Given the description of an element on the screen output the (x, y) to click on. 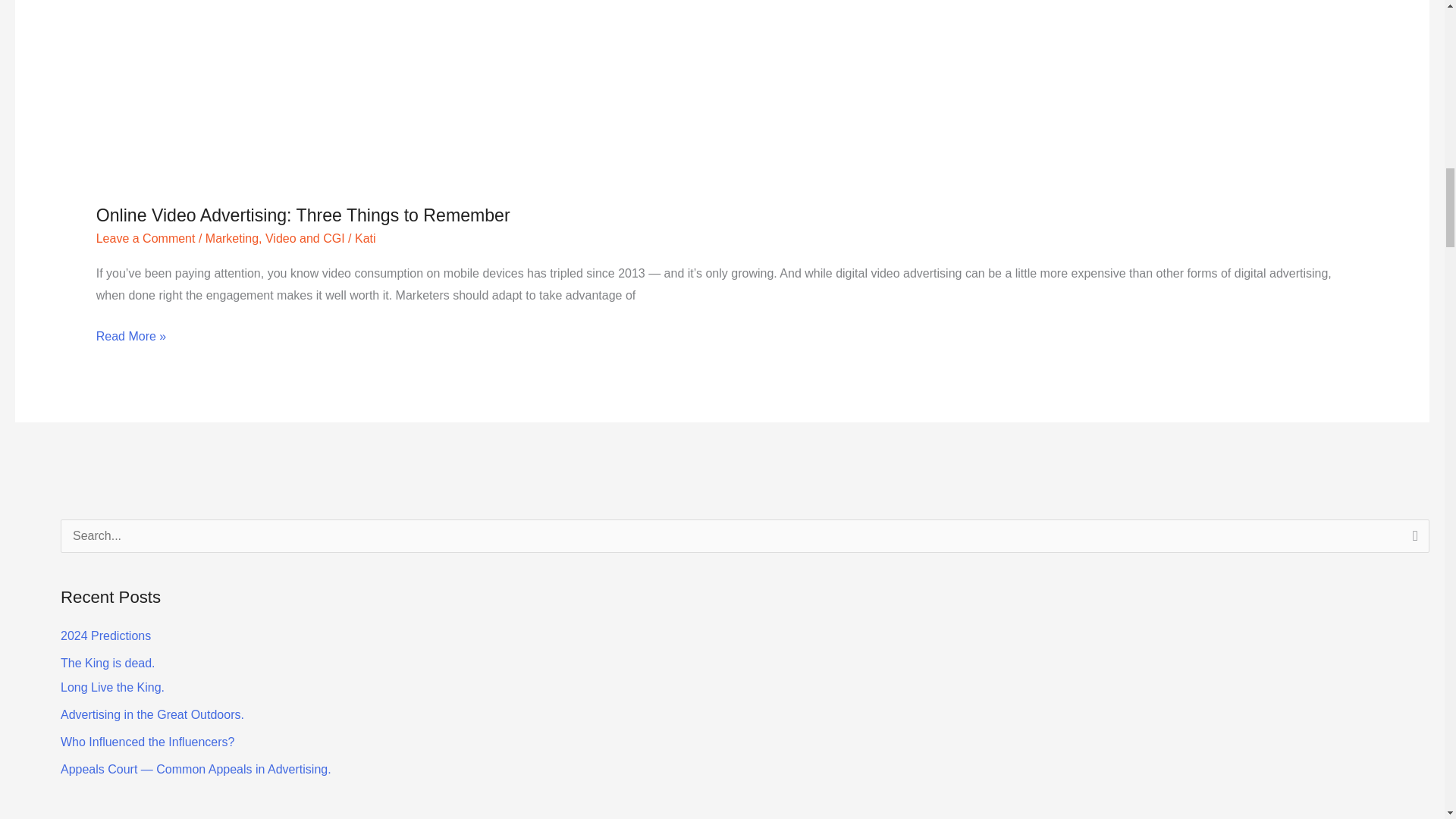
Video and CGI (304, 237)
Advertising in the Great Outdoors. (112, 674)
Leave a Comment (152, 714)
View all posts by Kati (145, 237)
Online Video Advertising: Three Things to Remember (365, 237)
2024 Predictions (303, 215)
Who Influenced the Influencers? (106, 635)
Kati (147, 741)
Marketing (365, 237)
